Given the description of an element on the screen output the (x, y) to click on. 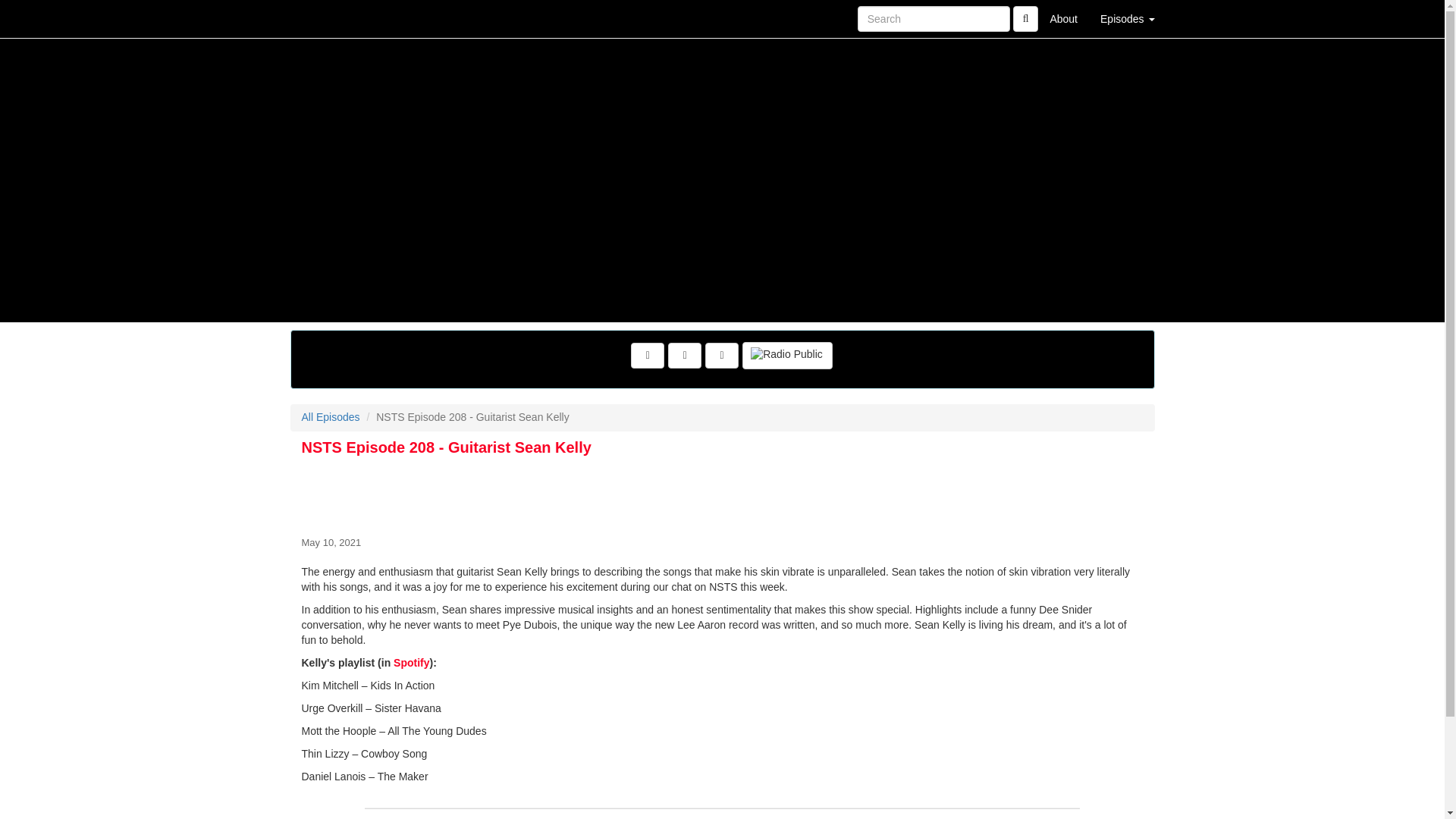
Visit Us on Facebook (646, 355)
Home Page (320, 18)
Episodes (1127, 18)
Subscribe to RSS Feed (721, 355)
Listen on Radio Public (787, 355)
NSTS Episode 208 - Guitarist Sean Kelly (721, 493)
Visit Us on Twitter (684, 355)
About (1063, 18)
